Given the description of an element on the screen output the (x, y) to click on. 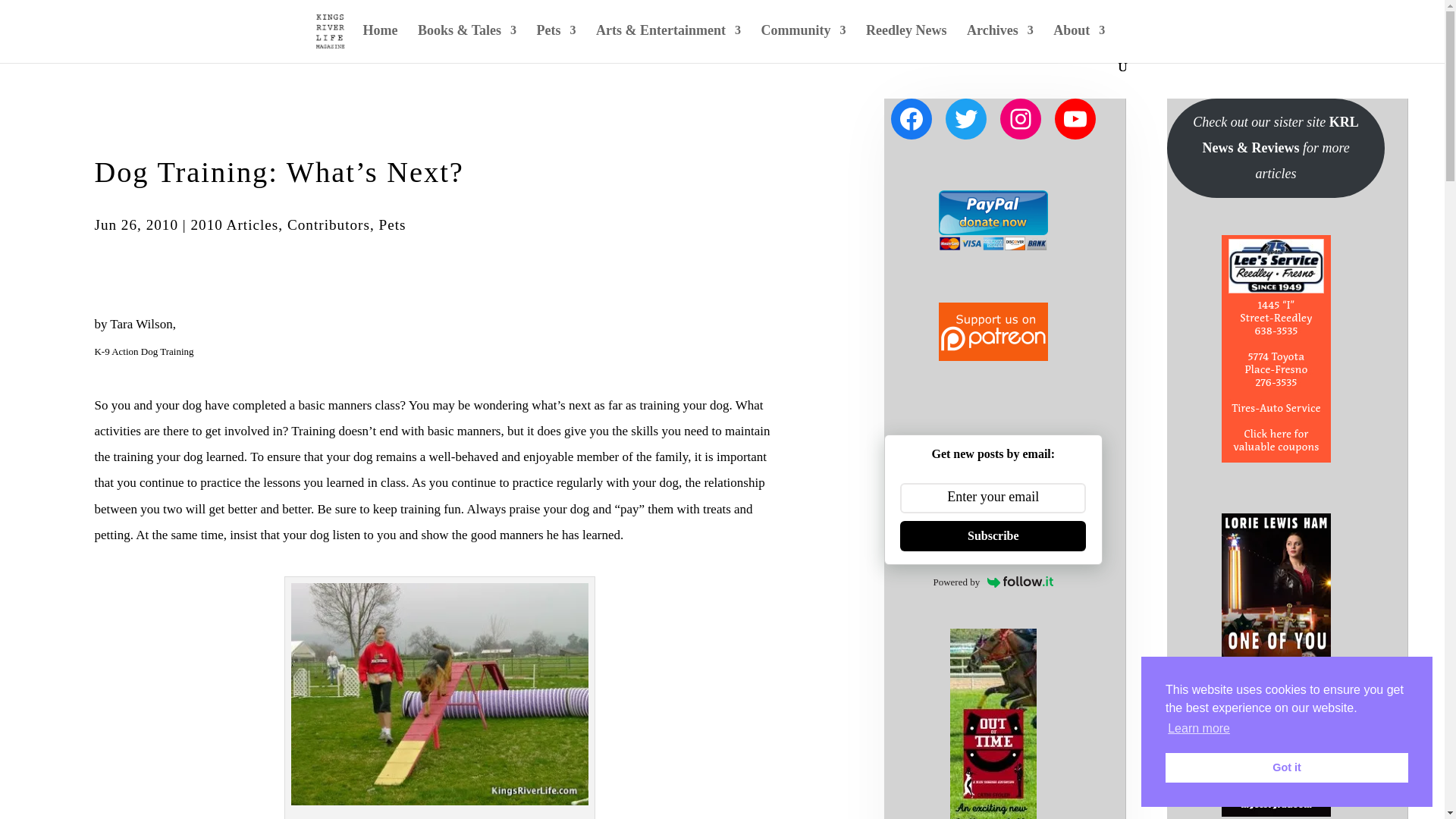
Community (802, 42)
Home (379, 42)
Archives (999, 42)
Reedley News (906, 42)
Photo by Geri Lu Jurey, Tara's agility trainer (439, 694)
Pets (556, 42)
